Given the description of an element on the screen output the (x, y) to click on. 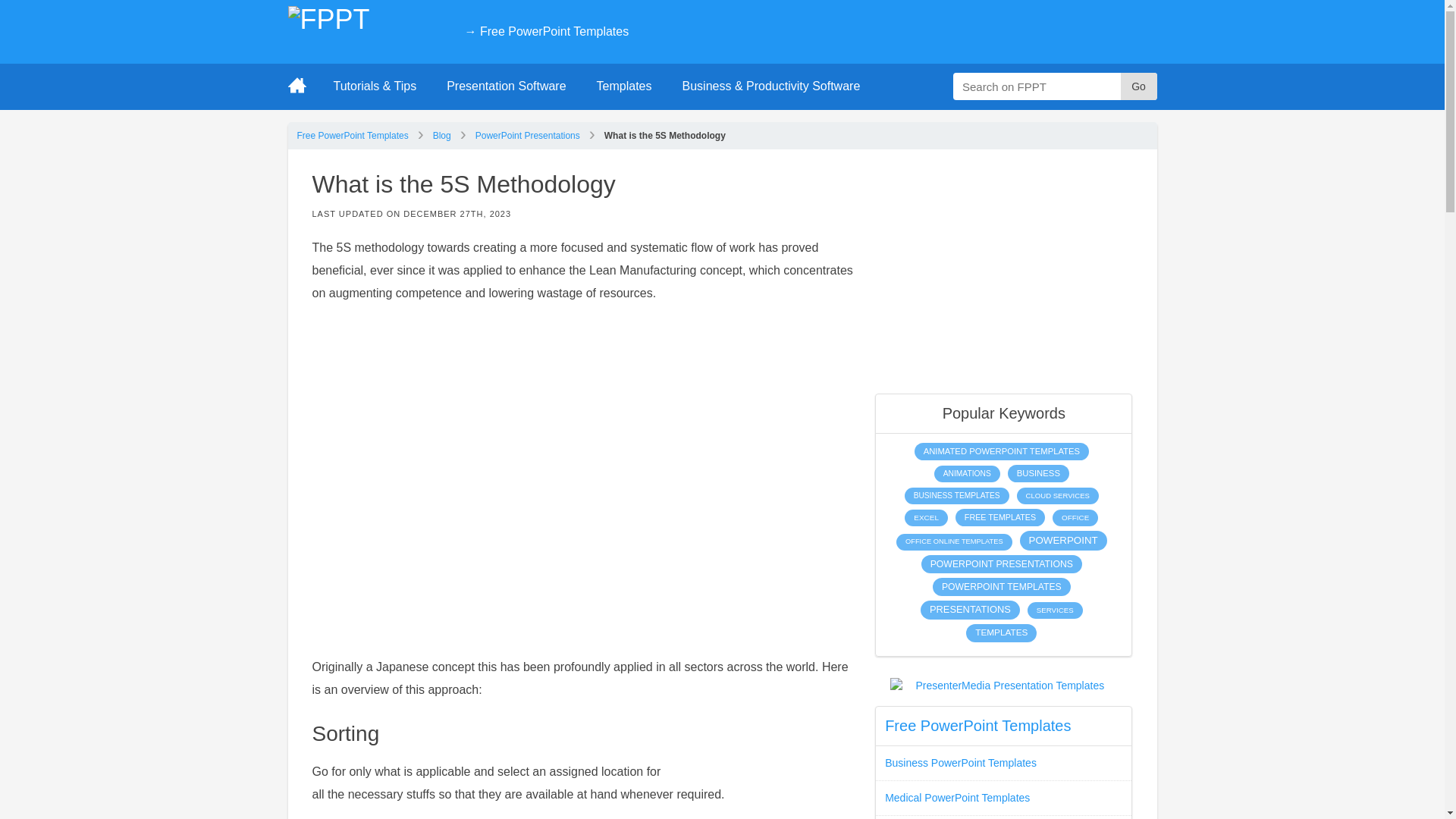
POWERPOINT TEMPLATES (1001, 587)
ANIMATIONS (967, 474)
POWERPOINT (1063, 539)
BUSINESS TEMPLATES (956, 495)
SERVICES (1055, 610)
Free PowerPoint Templates (353, 135)
OFFICE (1074, 517)
ANIMATED POWERPOINT TEMPLATES (1001, 451)
FREE TEMPLATES (1000, 517)
Go (1139, 85)
PRESENTATIONS (970, 609)
Presentation Software (505, 85)
Blog (441, 135)
Go (1139, 85)
OFFICE ONLINE TEMPLATES (953, 541)
